Given the description of an element on the screen output the (x, y) to click on. 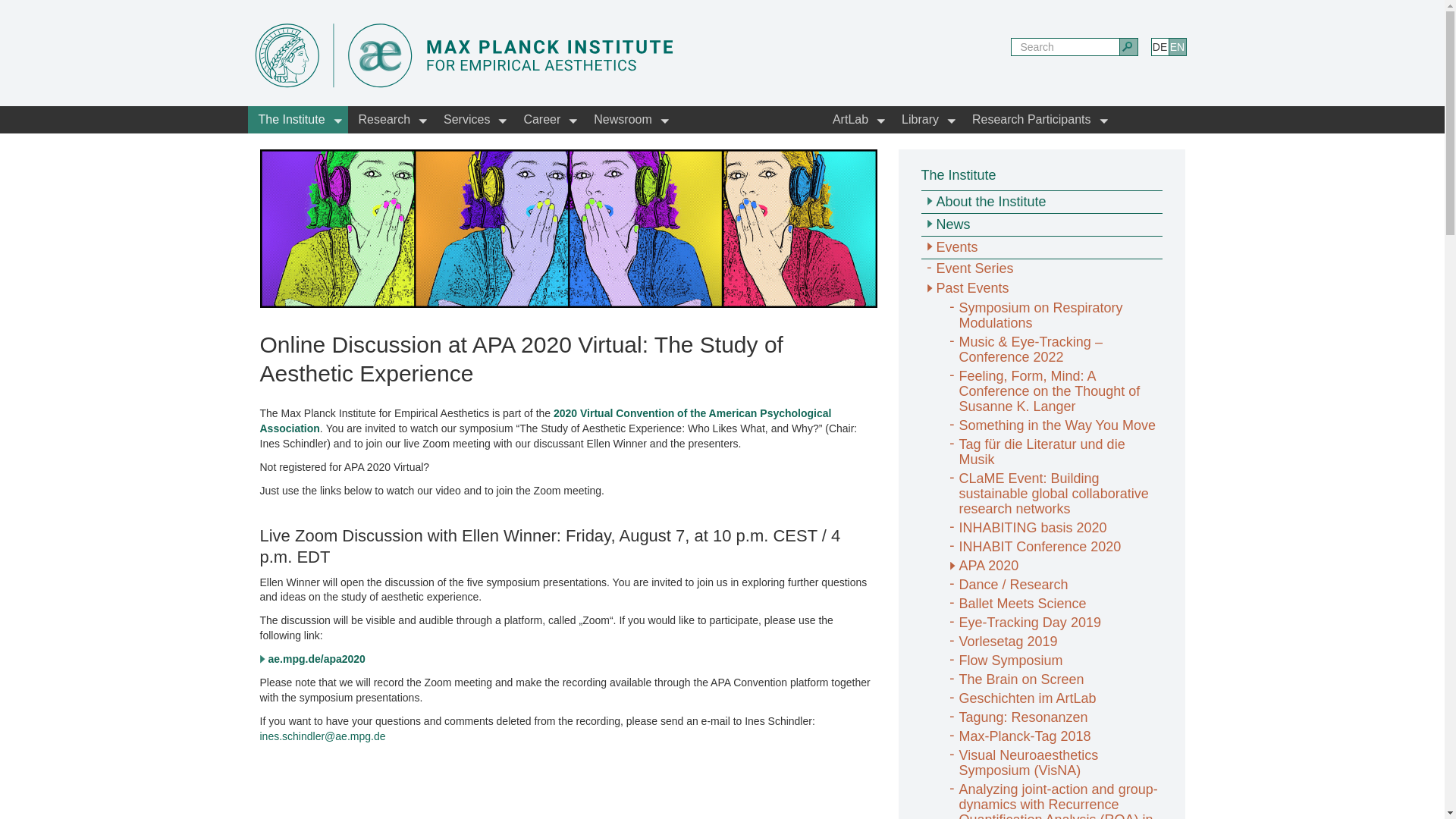
Go! (1128, 46)
DE (1160, 46)
Career (547, 119)
Go! (1128, 46)
Research (389, 119)
Research (389, 119)
The Institute (297, 119)
Go! (1128, 46)
The Institute (297, 119)
Services (472, 119)
